Given the description of an element on the screen output the (x, y) to click on. 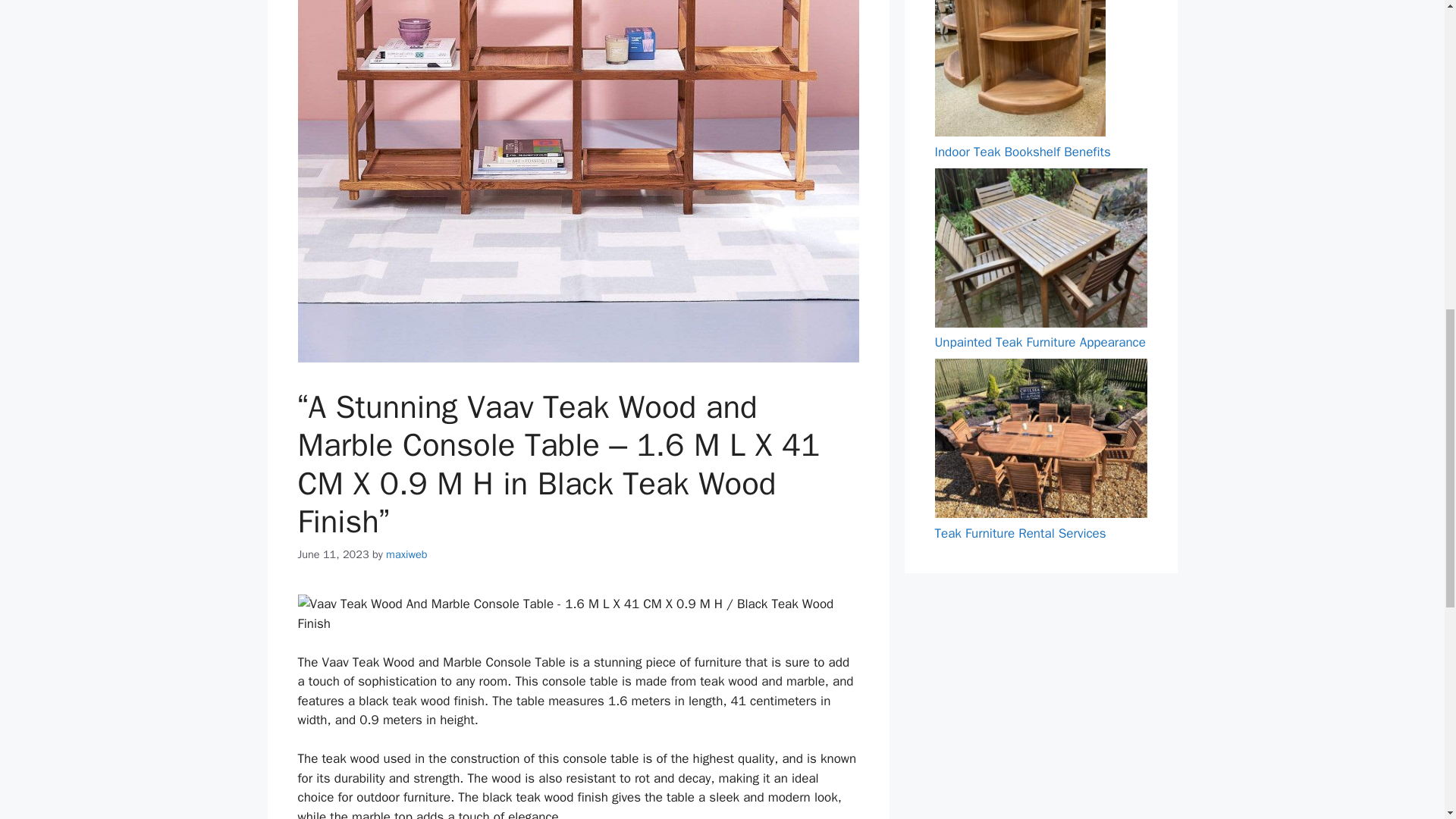
maxiweb (406, 554)
Indoor Teak Bookshelf Benefits (1021, 151)
View all posts by maxiweb (406, 554)
Teak Furniture Rental Services (1019, 533)
Unpainted Teak Furniture Appearance (1039, 342)
